Given the description of an element on the screen output the (x, y) to click on. 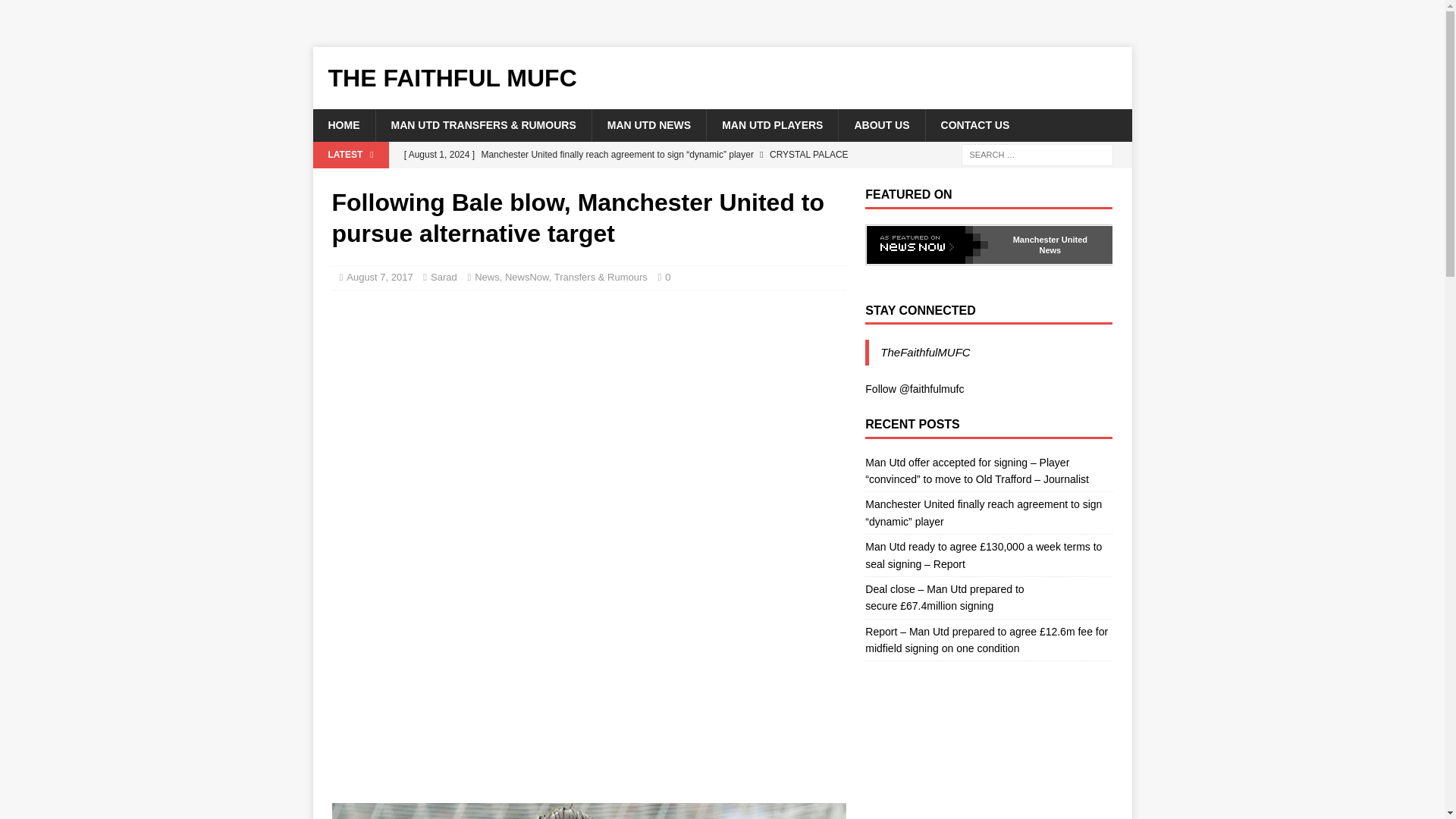
NewsNow (526, 276)
MAN UTD PLAYERS (772, 124)
Sarad (443, 276)
MAN UTD NEWS (648, 124)
CONTACT US (974, 124)
ABOUT US (881, 124)
Click here for more Manchester United news from NewsNow (927, 244)
August 7, 2017 (379, 276)
Manchester United News (1050, 244)
TheFaithfulMUFC (924, 351)
The Faithful MUFC (721, 78)
HOME (343, 124)
Search (56, 11)
Click here for more Manchester United news from NewsNow (1050, 244)
News (486, 276)
